Given the description of an element on the screen output the (x, y) to click on. 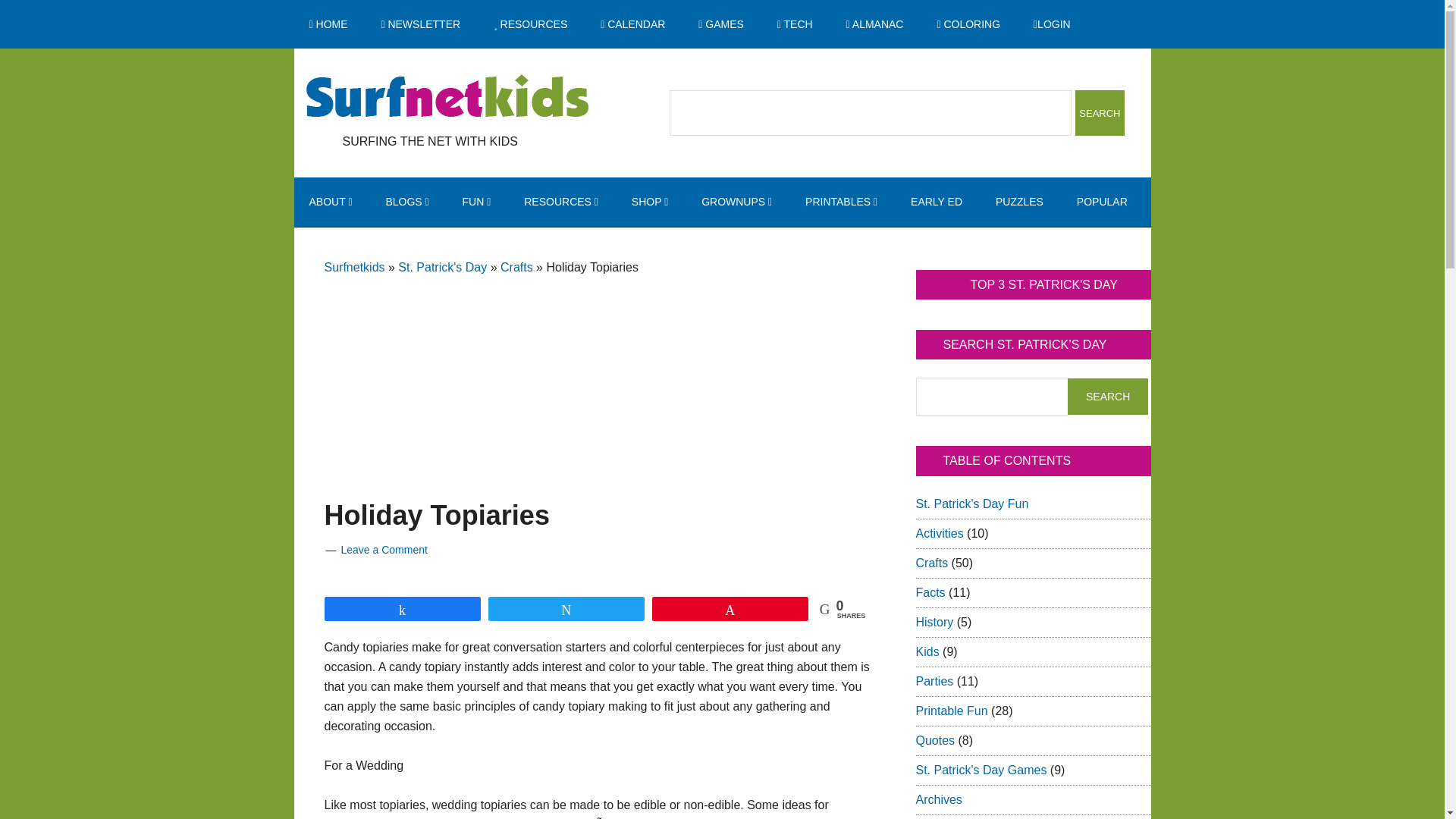
COLORING (967, 24)
BLOGS (406, 201)
Surfing the Net with Kids (446, 97)
ABOUT (331, 201)
LOGIN (1051, 24)
RESOURCES (560, 201)
FUN (476, 201)
SHOP (648, 201)
RESOURCES (530, 24)
Search (1107, 396)
GAMES (720, 24)
NEWSLETTER (420, 24)
HOME (328, 24)
Advertisement (597, 370)
CALENDAR (632, 24)
